Given the description of an element on the screen output the (x, y) to click on. 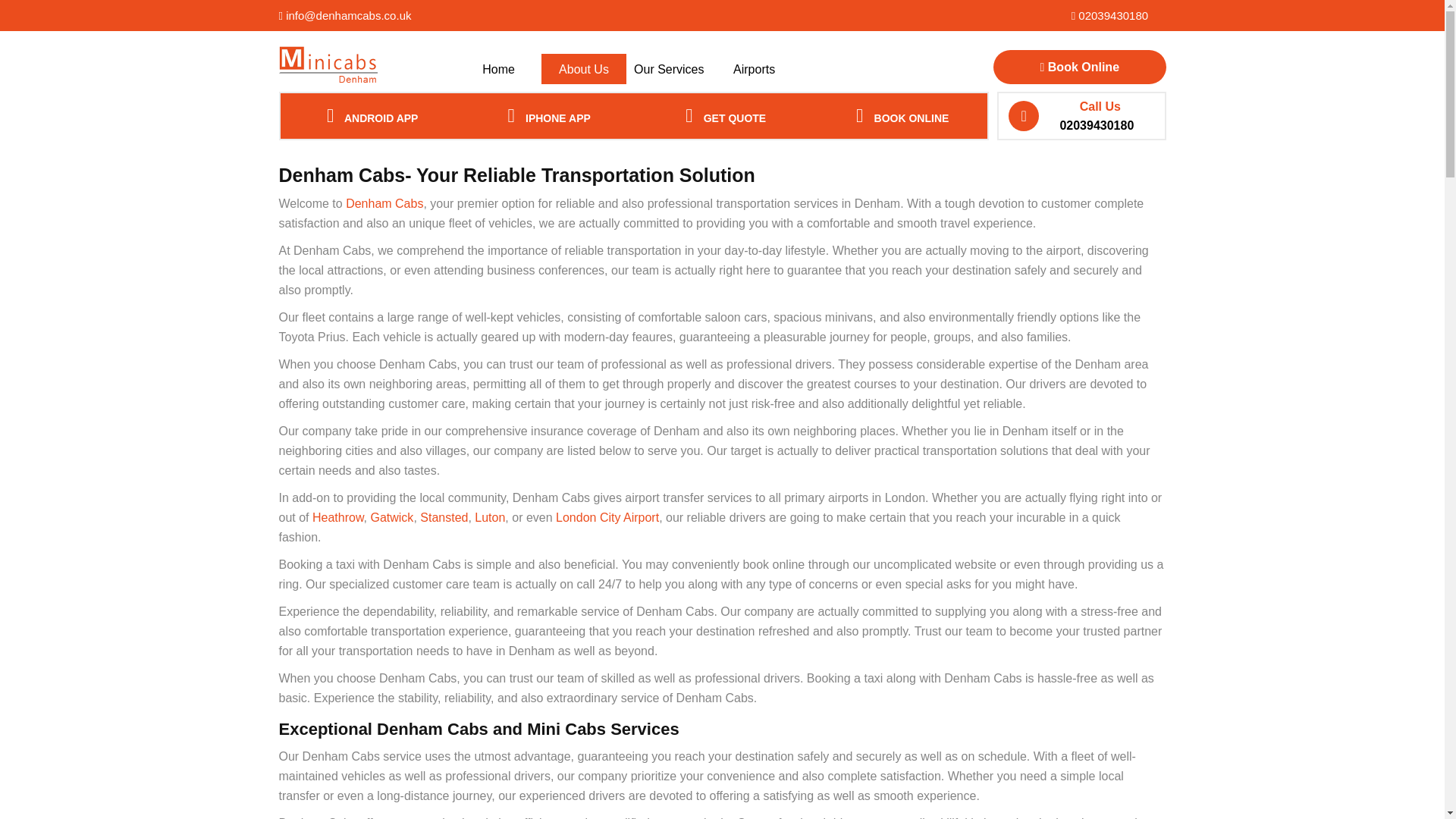
Heathrow (338, 517)
02039430180 (1109, 15)
IPHONE APP (545, 115)
Denham Local Taxis (384, 203)
London City Airport (607, 517)
Stansted (443, 517)
BOOK ONLINE (898, 115)
ANDROID APP (369, 115)
Airports (753, 69)
Download Our Iphone App - Denham Cabs (545, 115)
